Given the description of an element on the screen output the (x, y) to click on. 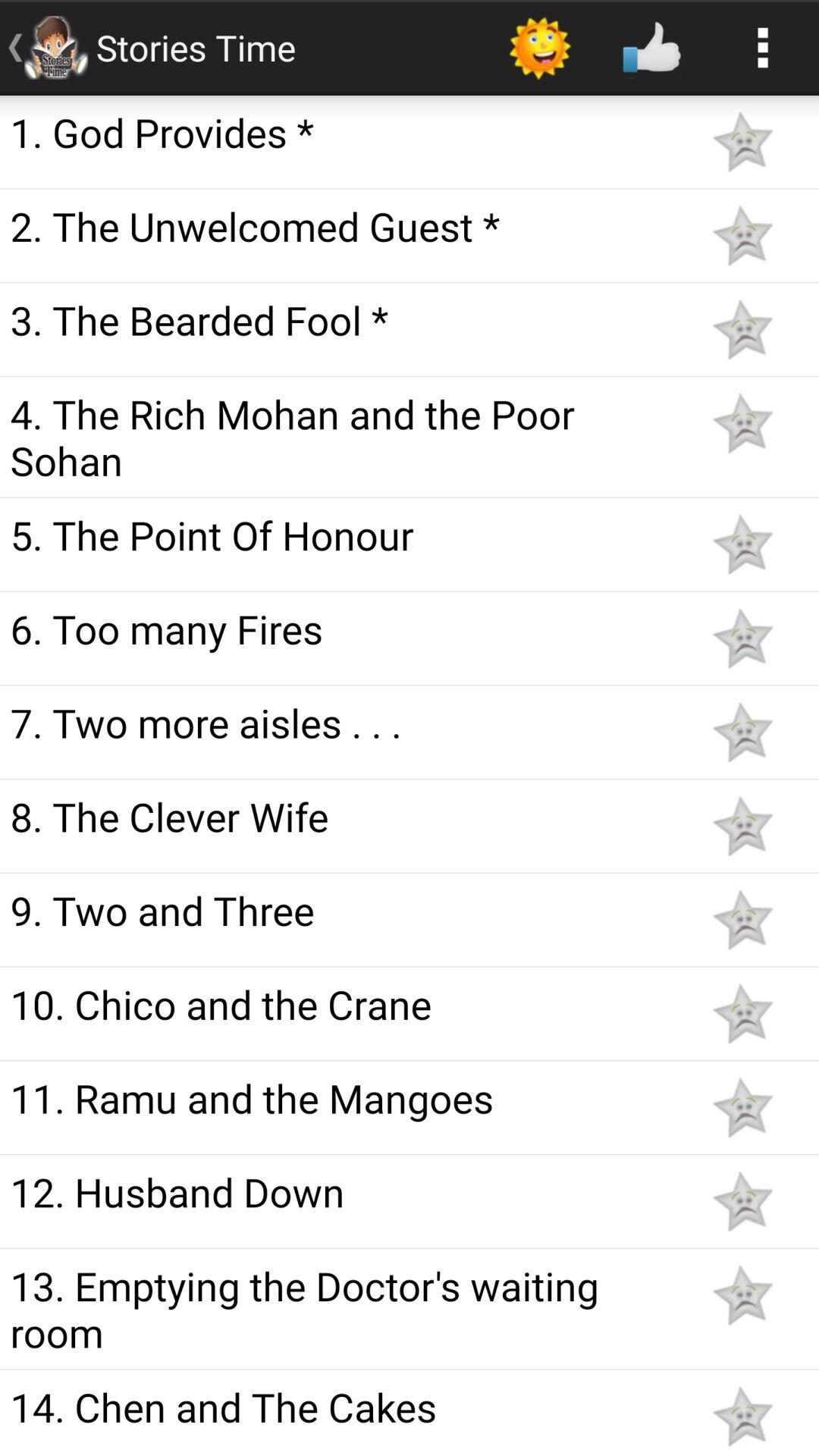
mark a star for husband down (742, 1201)
